Given the description of an element on the screen output the (x, y) to click on. 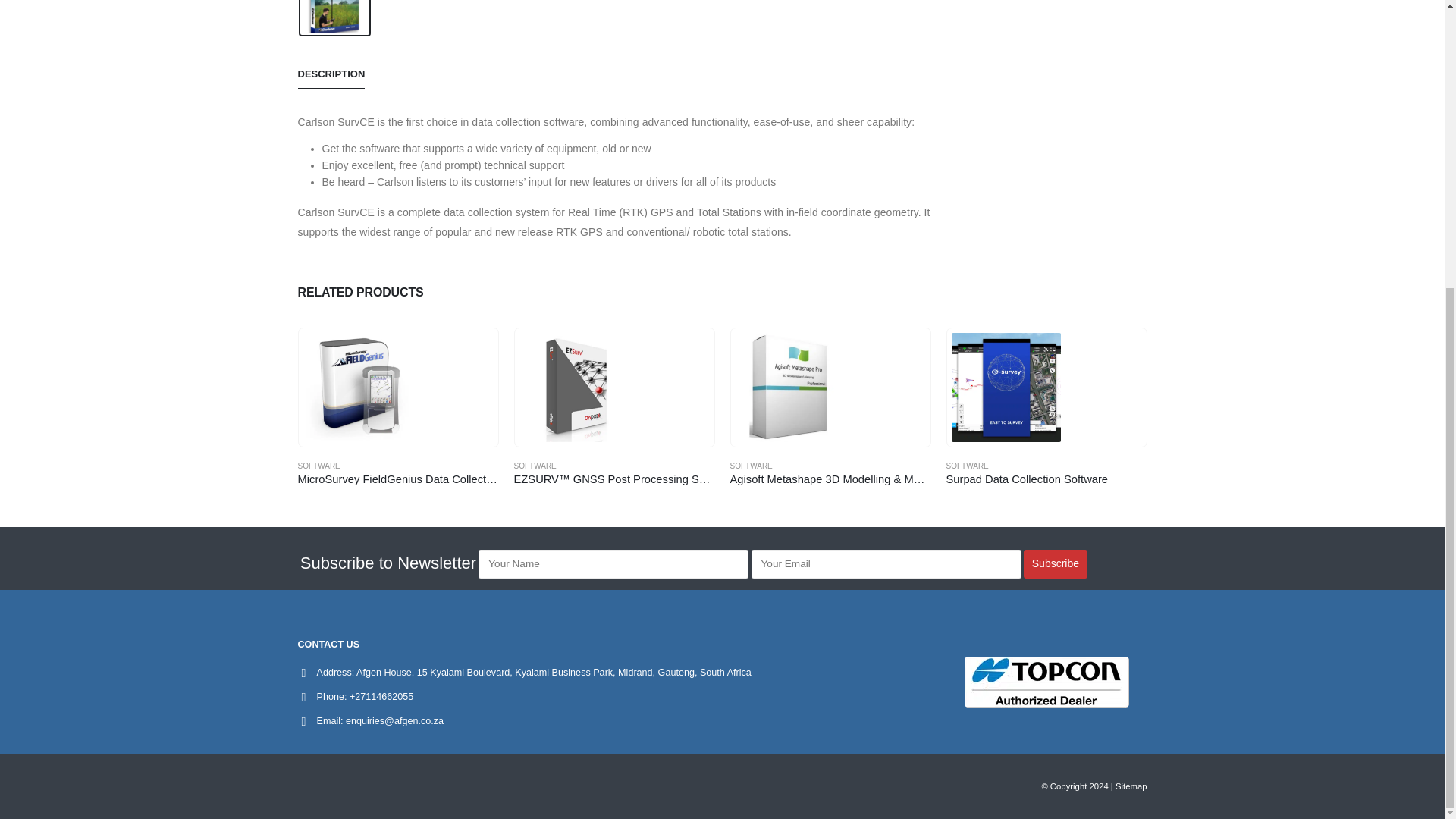
Subscribe (1055, 563)
Your Name (613, 563)
